Given the description of an element on the screen output the (x, y) to click on. 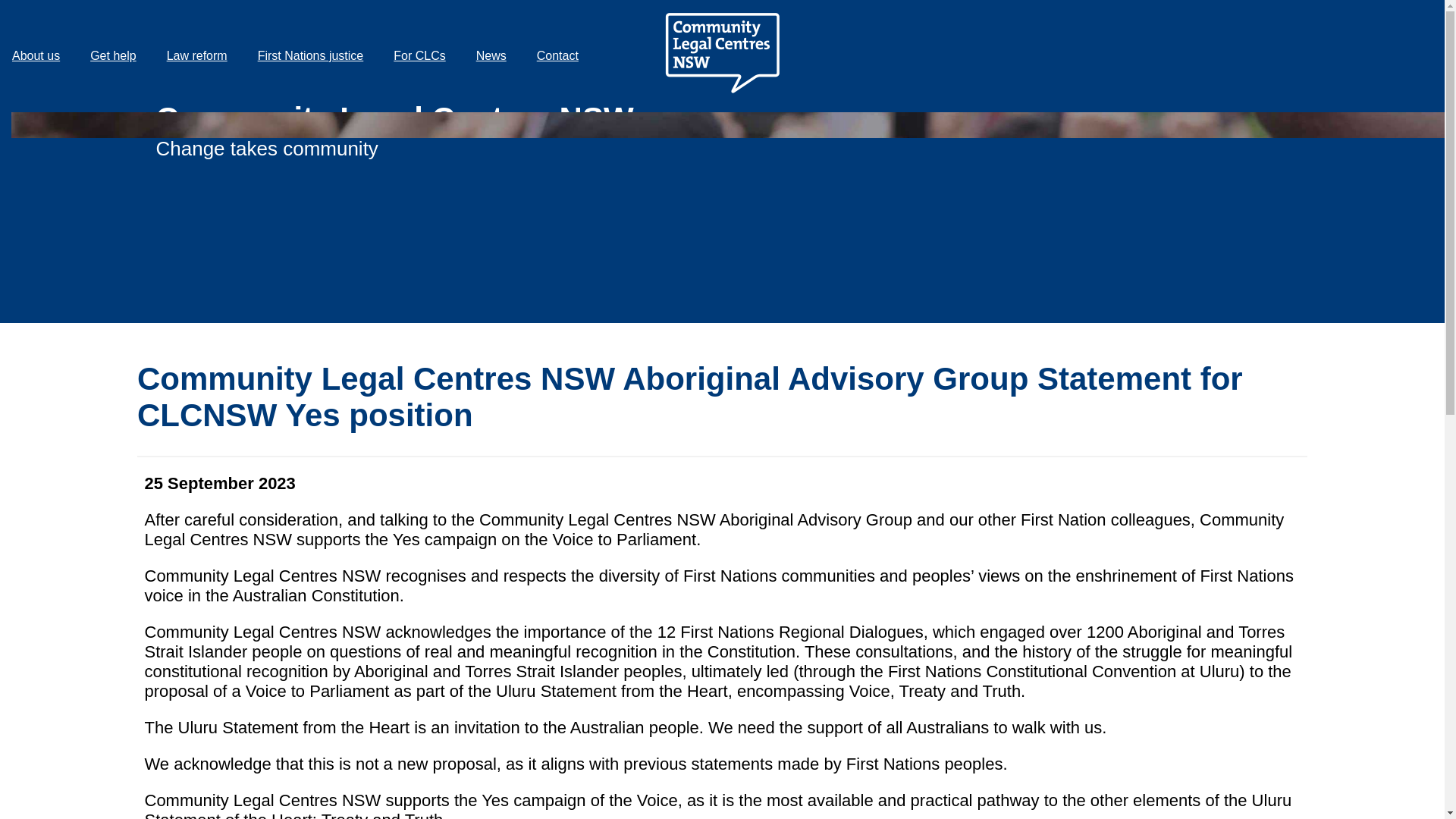
Get help (116, 55)
Law reform (200, 55)
Home (721, 103)
First Nations justice (313, 55)
About us (39, 55)
About Community Legal Centres NSW (39, 55)
Find legal help (116, 55)
For CLCs (422, 55)
